Given the description of an element on the screen output the (x, y) to click on. 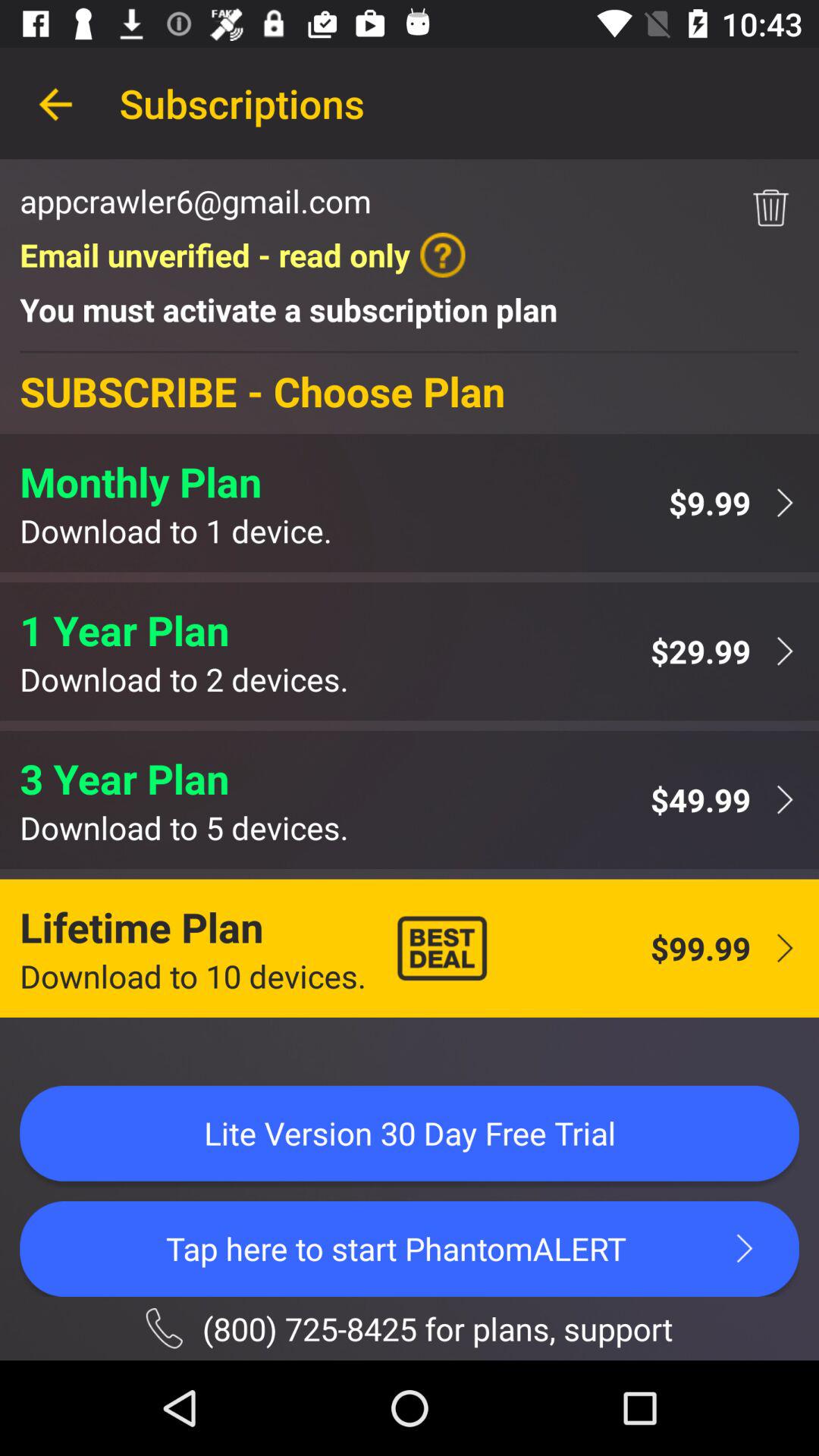
launch item above the you must activate icon (242, 254)
